Given the description of an element on the screen output the (x, y) to click on. 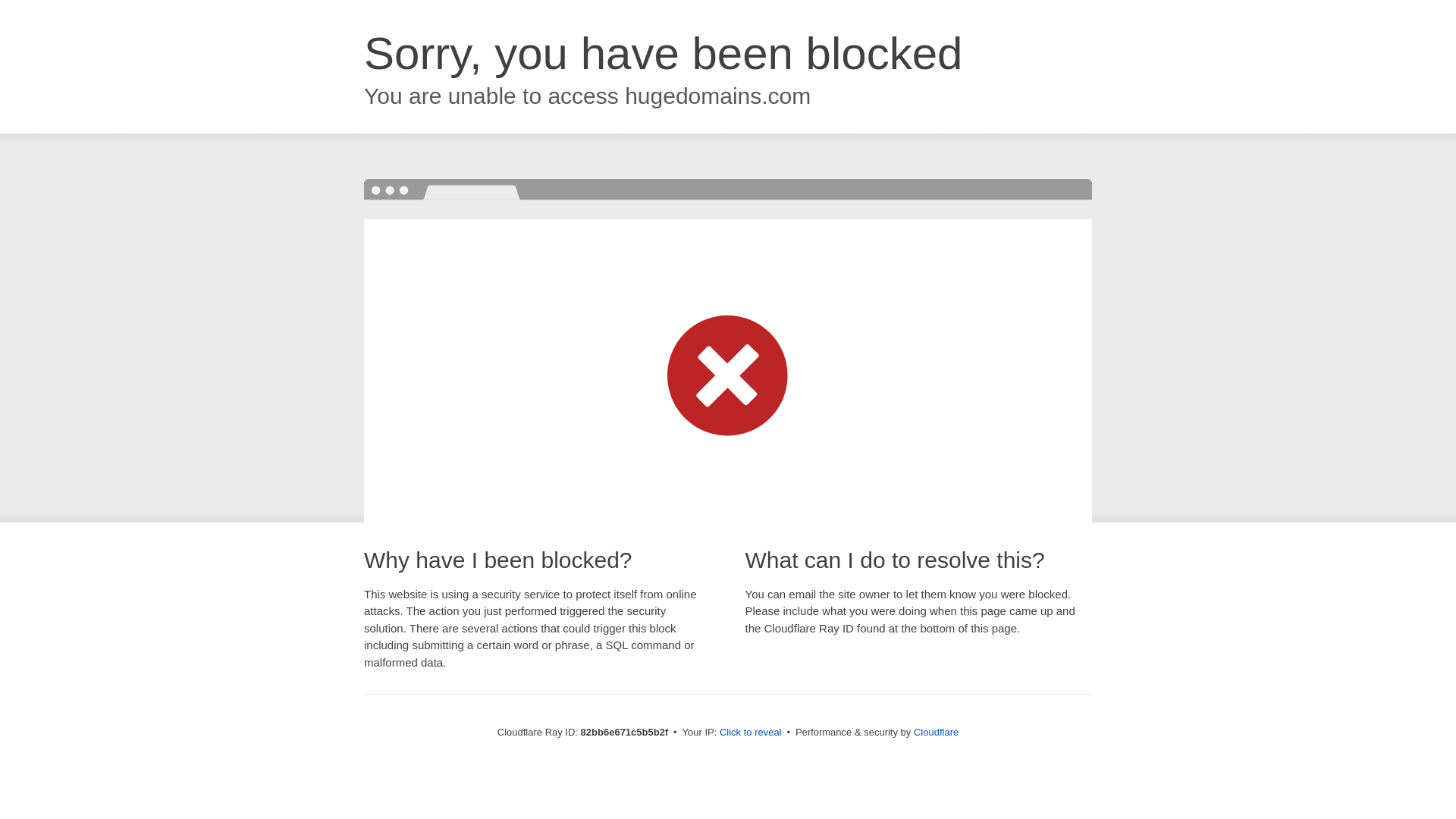
Cloudflare Element type: text (935, 731)
Click to reveal Element type: text (750, 732)
